Given the description of an element on the screen output the (x, y) to click on. 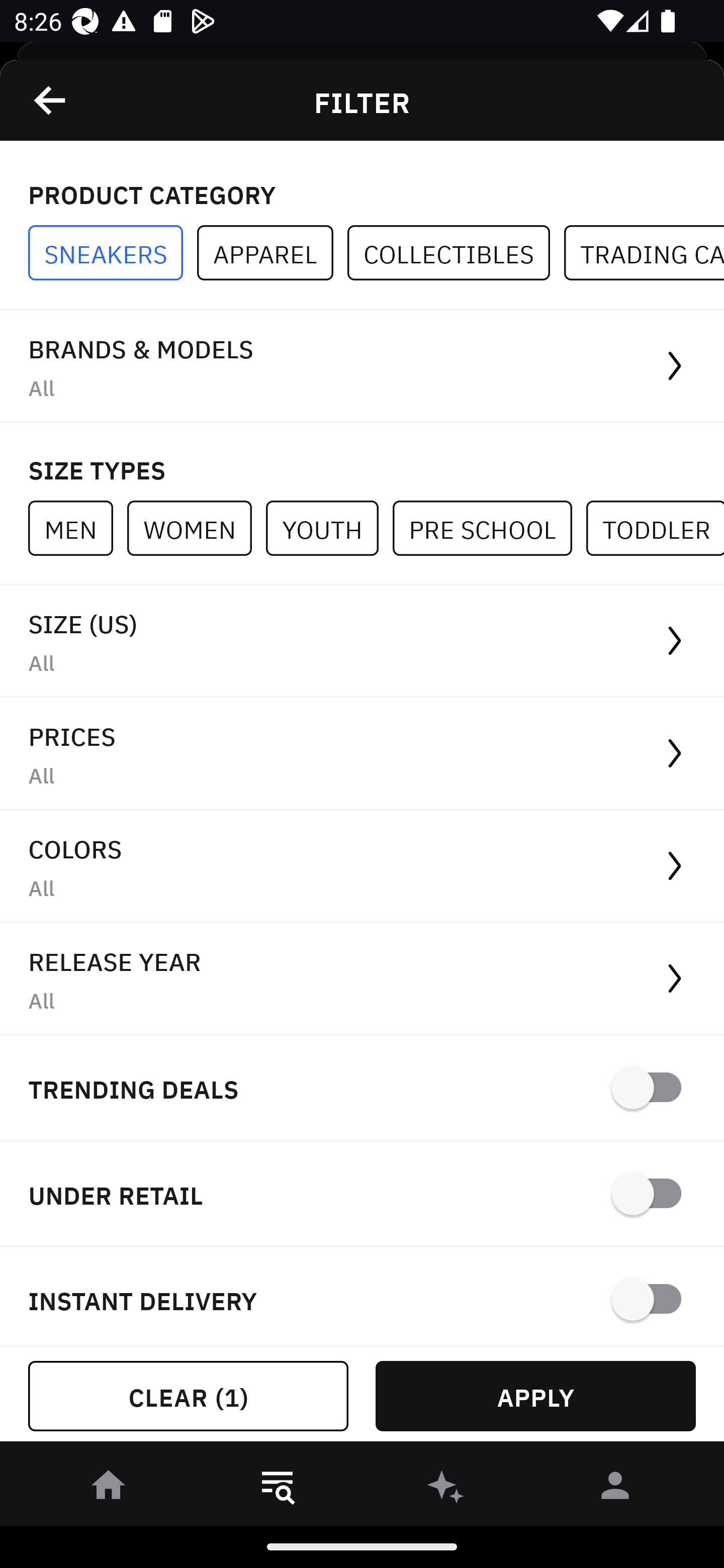
 (50, 100)
SNEAKERS (112, 252)
APPAREL (271, 252)
COLLECTIBLES (455, 252)
TRADING CARDS (643, 252)
BRANDS & MODELS All (362, 366)
MEN (77, 527)
WOMEN (196, 527)
YOUTH (328, 527)
PRE SCHOOL (489, 527)
TODDLER (655, 527)
SIZE (US) All (362, 640)
PRICES All (362, 753)
COLORS All (362, 866)
RELEASE YEAR All (362, 979)
TRENDING DEALS (362, 1088)
UNDER RETAIL (362, 1194)
INSTANT DELIVERY (362, 1296)
CLEAR (1) (188, 1396)
APPLY (535, 1396)
󰋜 (108, 1488)
󱎸 (277, 1488)
󰫢 (446, 1488)
󰀄 (615, 1488)
